Given the description of an element on the screen output the (x, y) to click on. 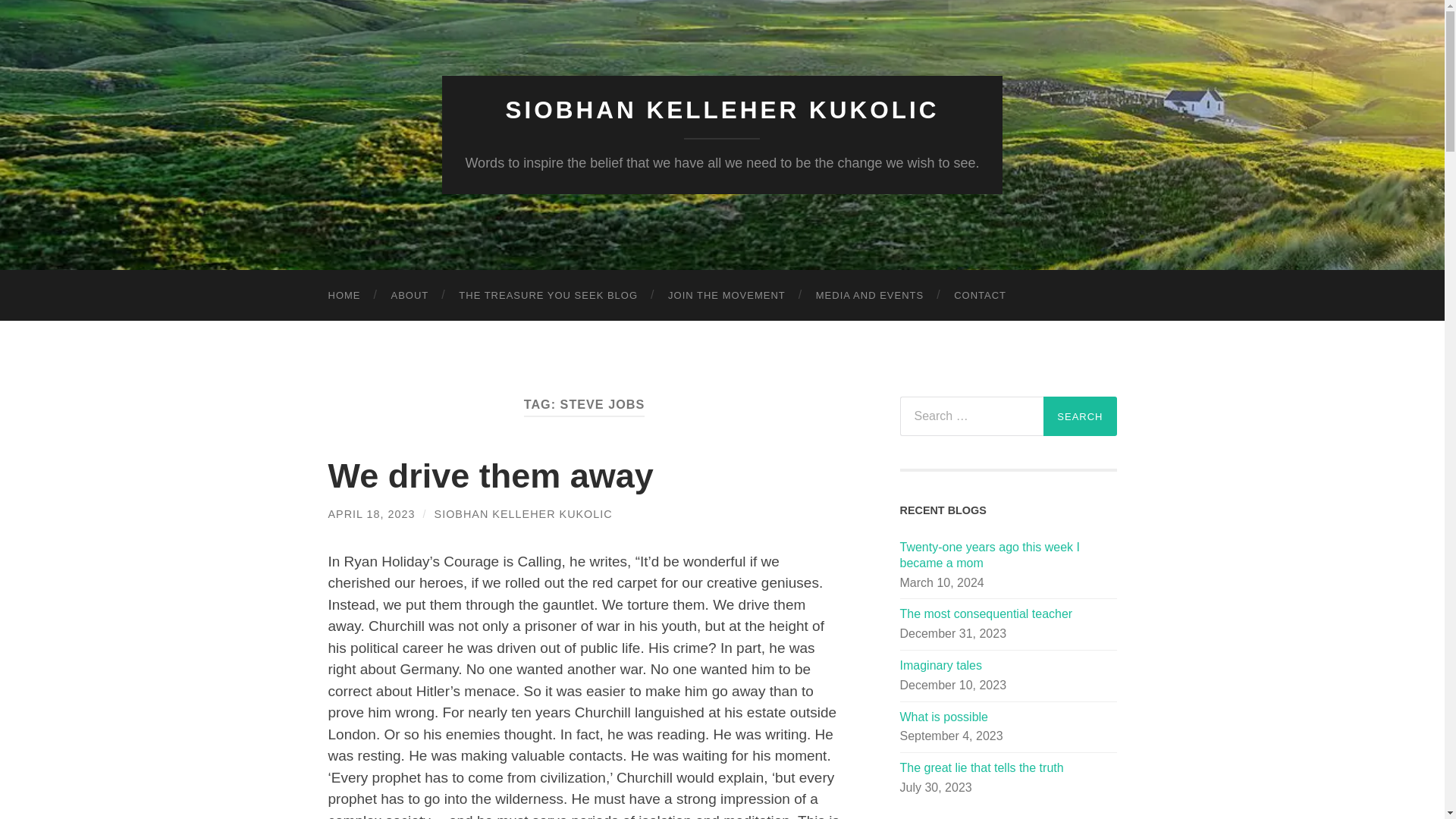
Search (1079, 415)
HOME (344, 295)
ABOUT (409, 295)
Posts by Siobhan Kelleher Kukolic (522, 513)
APRIL 18, 2023 (370, 513)
SIOBHAN KELLEHER KUKOLIC (722, 109)
MEDIA AND EVENTS (869, 295)
THE TREASURE YOU SEEK BLOG (548, 295)
SIOBHAN KELLEHER KUKOLIC (522, 513)
Search (1079, 415)
